Given the description of an element on the screen output the (x, y) to click on. 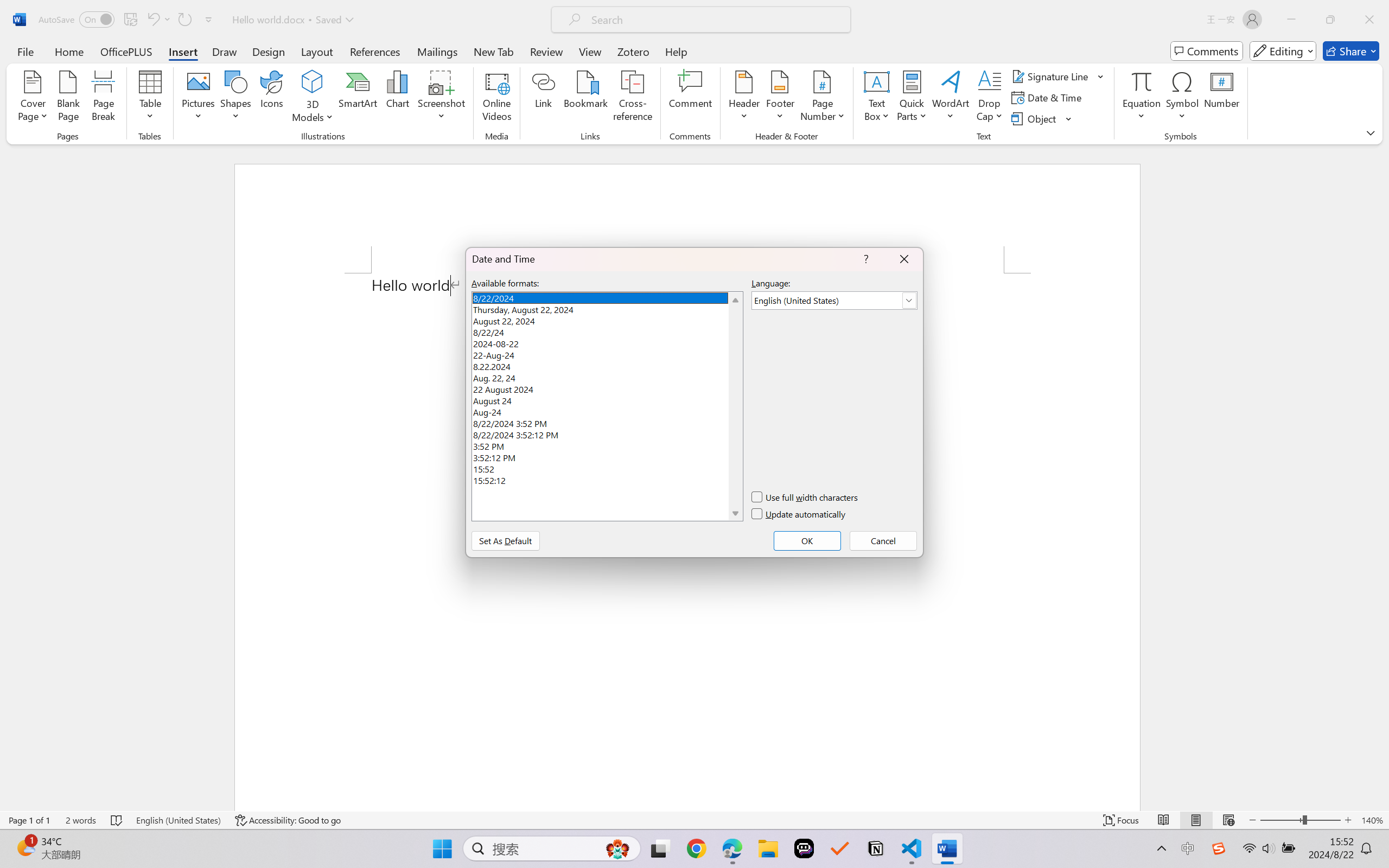
Customize Quick Access Toolbar (208, 19)
Poe (804, 848)
Aug. 22, 24 (606, 376)
8.22.2024 (606, 365)
Use full width characters (805, 497)
8/22/2024 (606, 296)
Mode (1283, 50)
Quick Access Toolbar (127, 19)
8/22/2024 3:52:12 PM (606, 433)
Google Chrome (696, 848)
Class: Image (1218, 847)
Focus  (1121, 819)
